Given the description of an element on the screen output the (x, y) to click on. 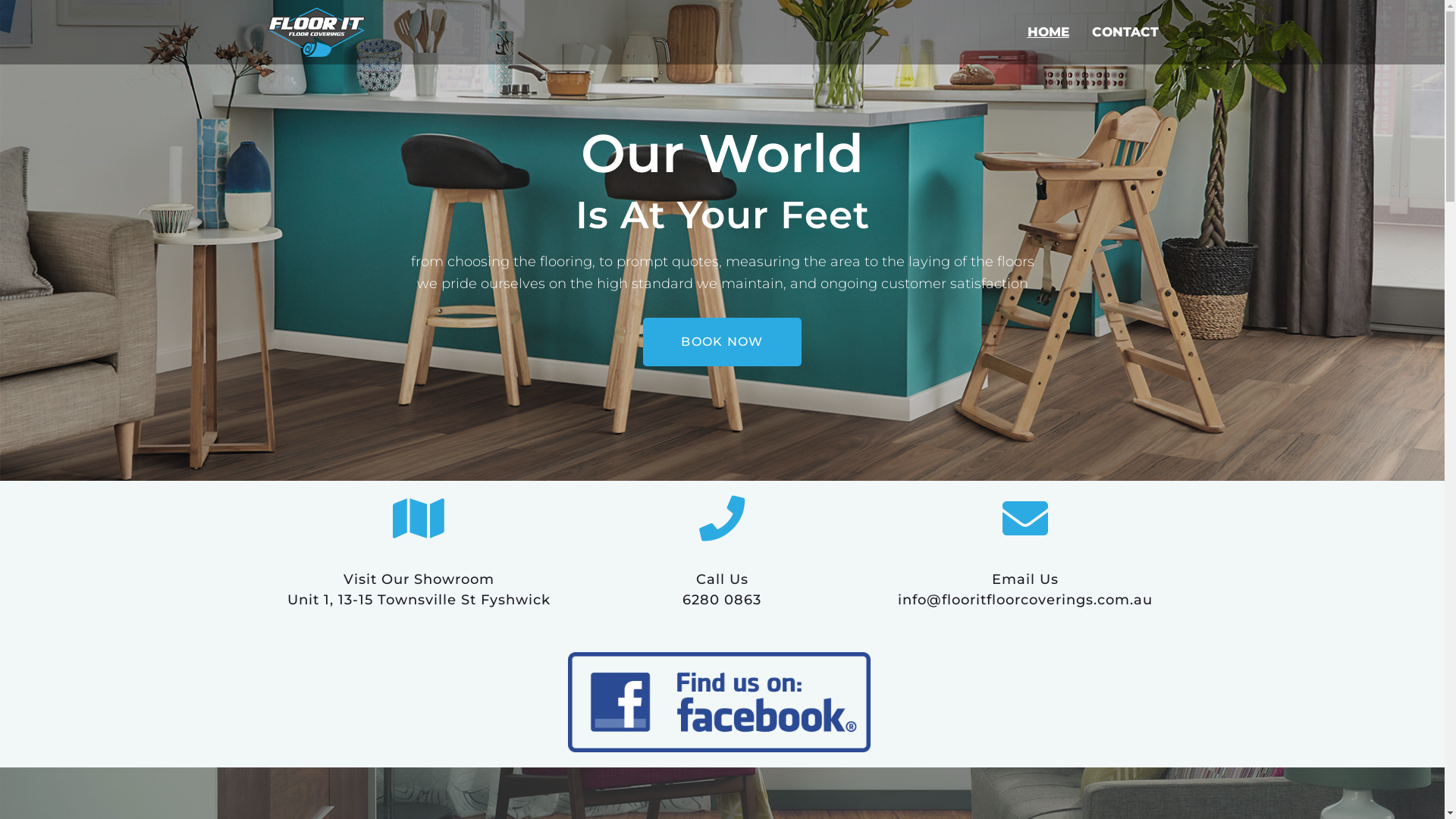
CONTACT Element type: text (1124, 31)
Visit Our Showroom
Unit 1, 13-15 Townsville St Fyshwick Element type: text (418, 589)
HOME Element type: text (1048, 31)
Call Us
6280 0863 Element type: text (721, 589)
Email Us
info@flooritfloorcoverings.com.au Element type: text (1024, 589)
BOOK NOW Element type: text (721, 341)
